Given the description of an element on the screen output the (x, y) to click on. 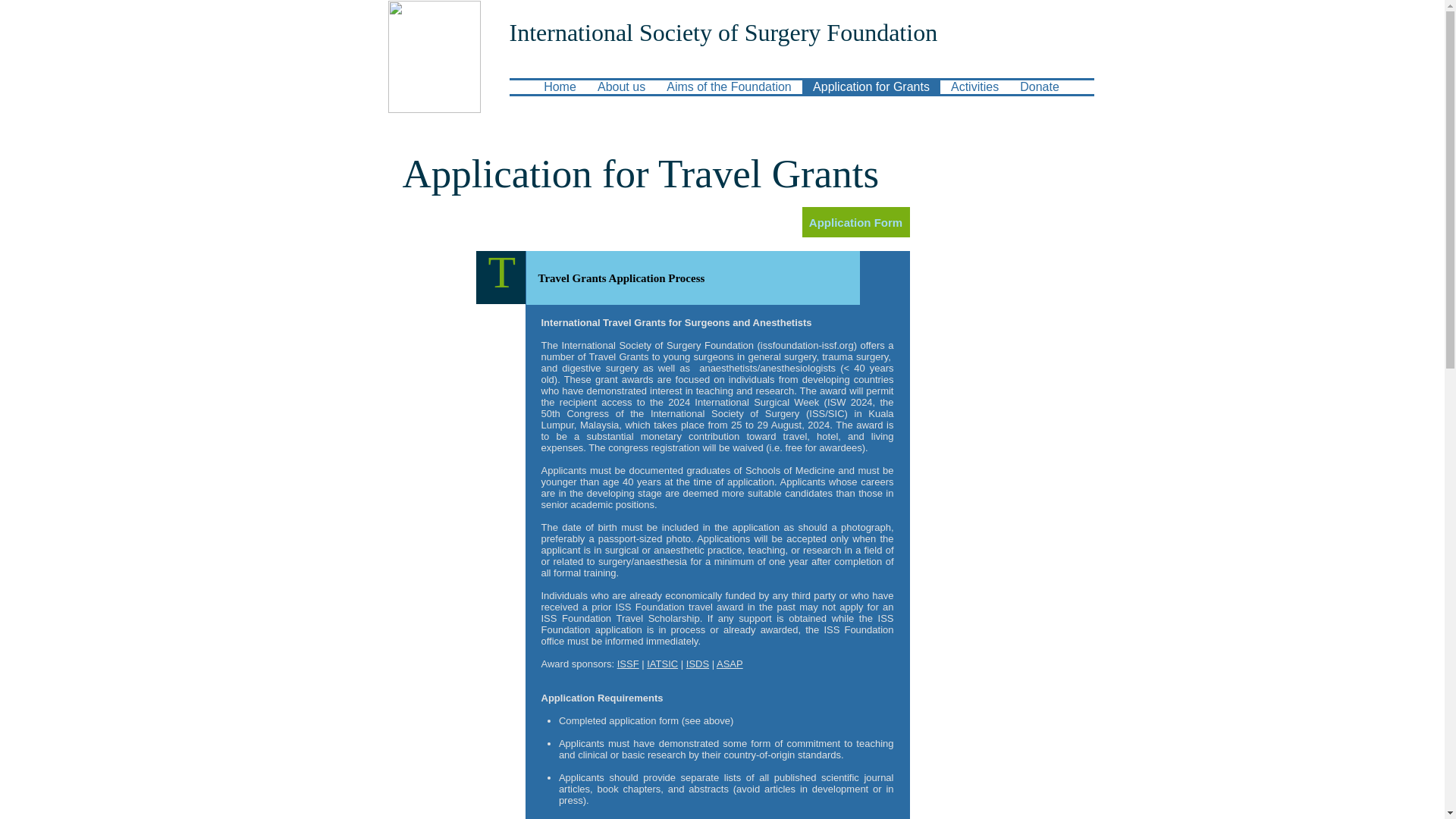
Activities (974, 87)
Donate (1039, 87)
Application for Grants (871, 87)
ISDS (697, 663)
ASAP (729, 663)
IATSIC (662, 663)
ISSF (628, 663)
Home (559, 87)
Application Form (856, 222)
International Society of Surgery Foundation (723, 31)
